Given the description of an element on the screen output the (x, y) to click on. 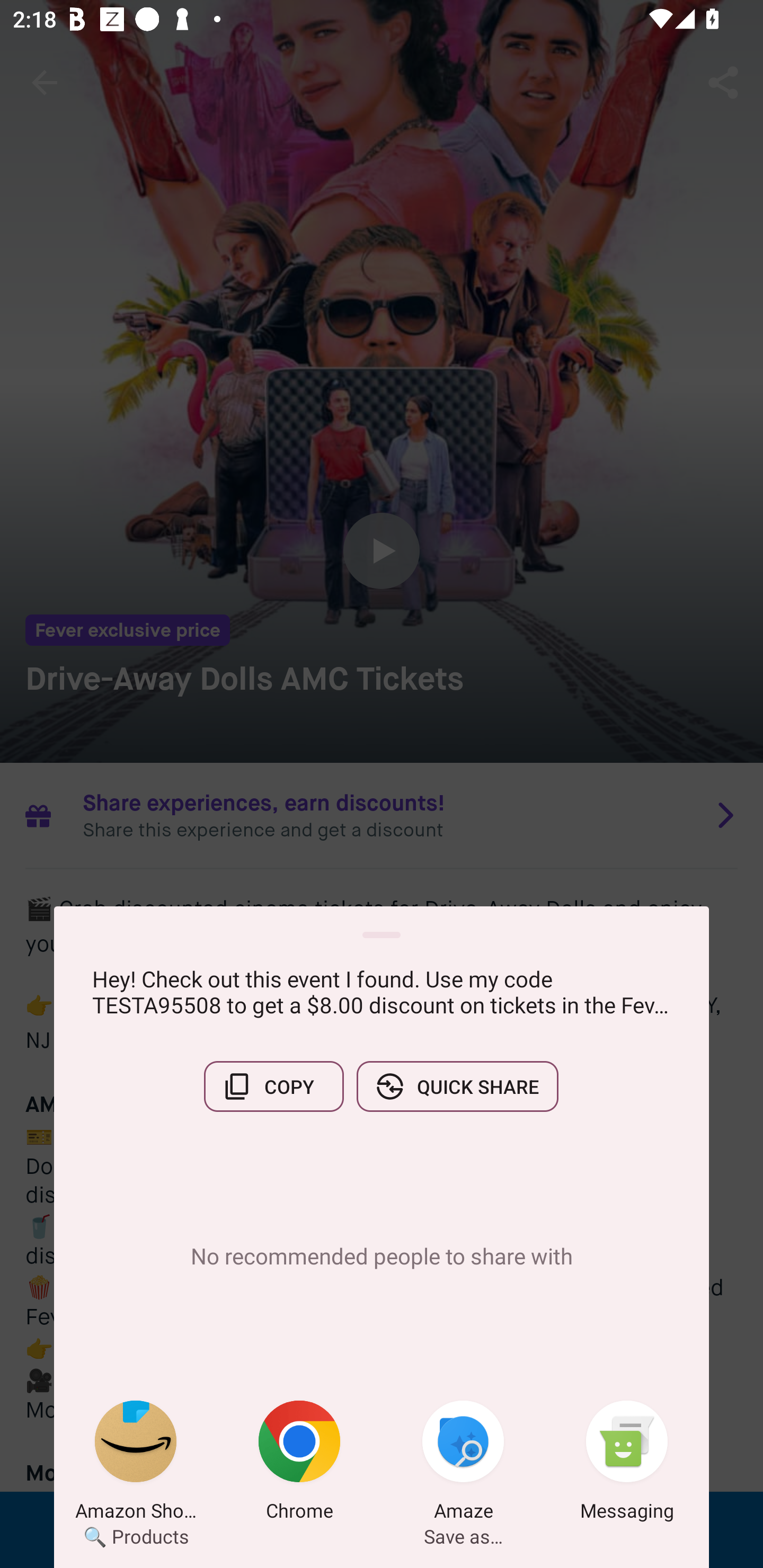
COPY (273, 1086)
QUICK SHARE (457, 1086)
Amazon Shopping 🔍 Products (135, 1463)
Chrome (299, 1463)
Amaze Save as… (463, 1463)
Messaging (626, 1463)
